Given the description of an element on the screen output the (x, y) to click on. 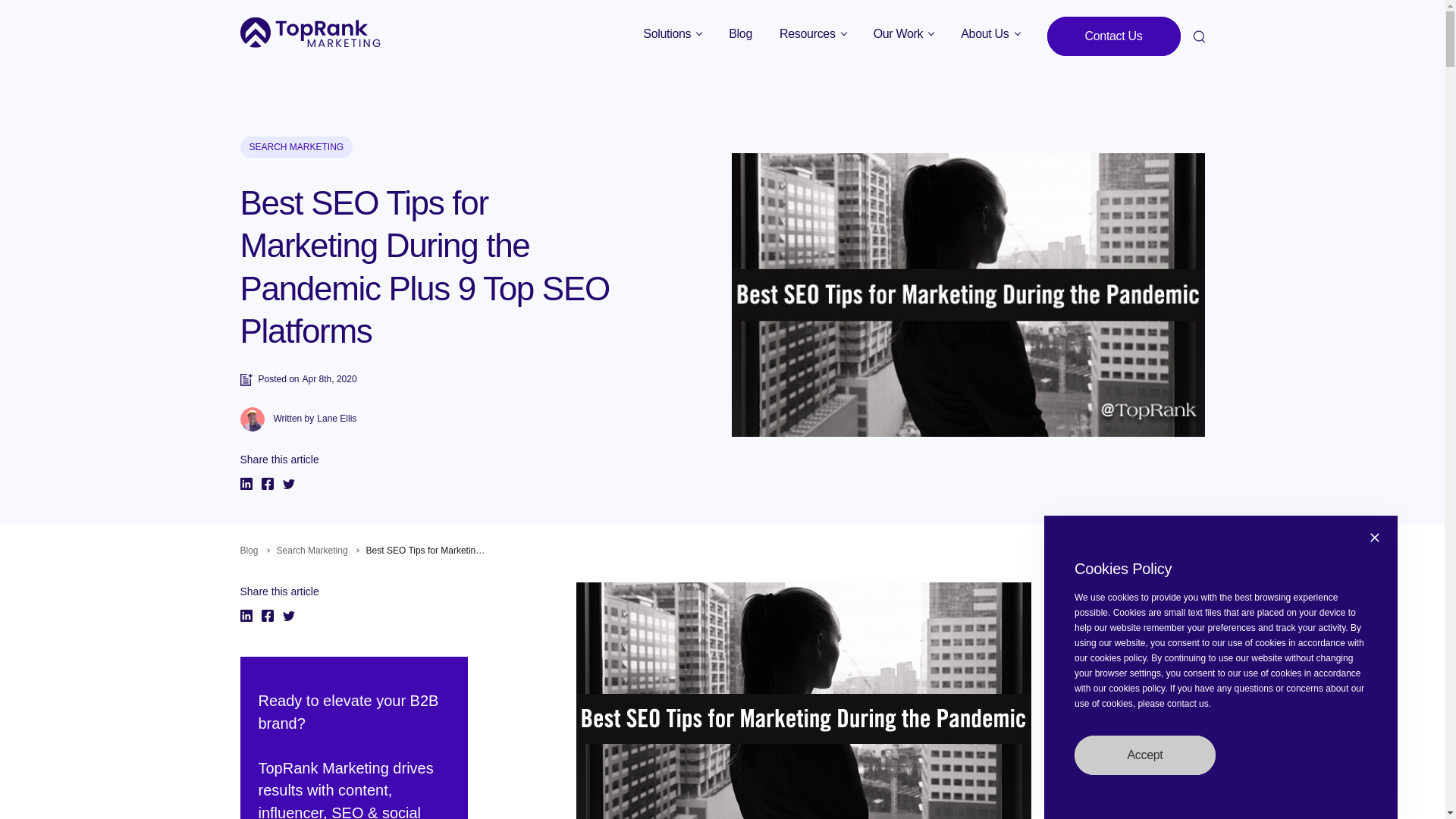
Blog (739, 33)
Contact Us (1112, 36)
Solutions (671, 33)
Read Articles - Lane Ellis (336, 419)
Resources (812, 33)
About Us (989, 33)
TopRankMarketing logo (310, 31)
Our Work (903, 33)
